Given the description of an element on the screen output the (x, y) to click on. 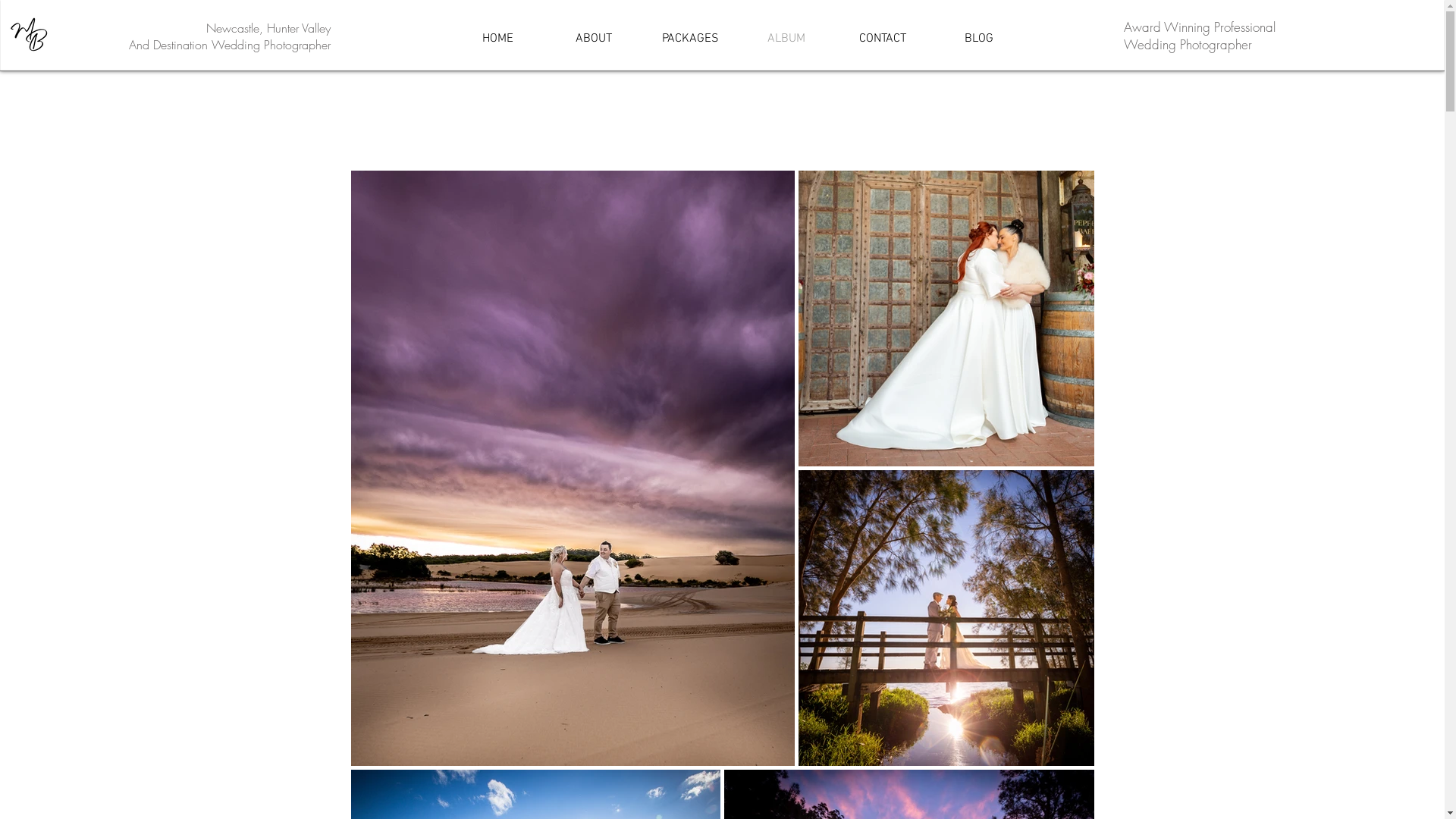
ALBUM Element type: text (786, 38)
CONTACT Element type: text (882, 38)
PACKAGES Element type: text (689, 38)
BLOG Element type: text (979, 38)
ABOUT Element type: text (594, 38)
MB.png Element type: hover (29, 33)
HOME Element type: text (496, 38)
